Given the description of an element on the screen output the (x, y) to click on. 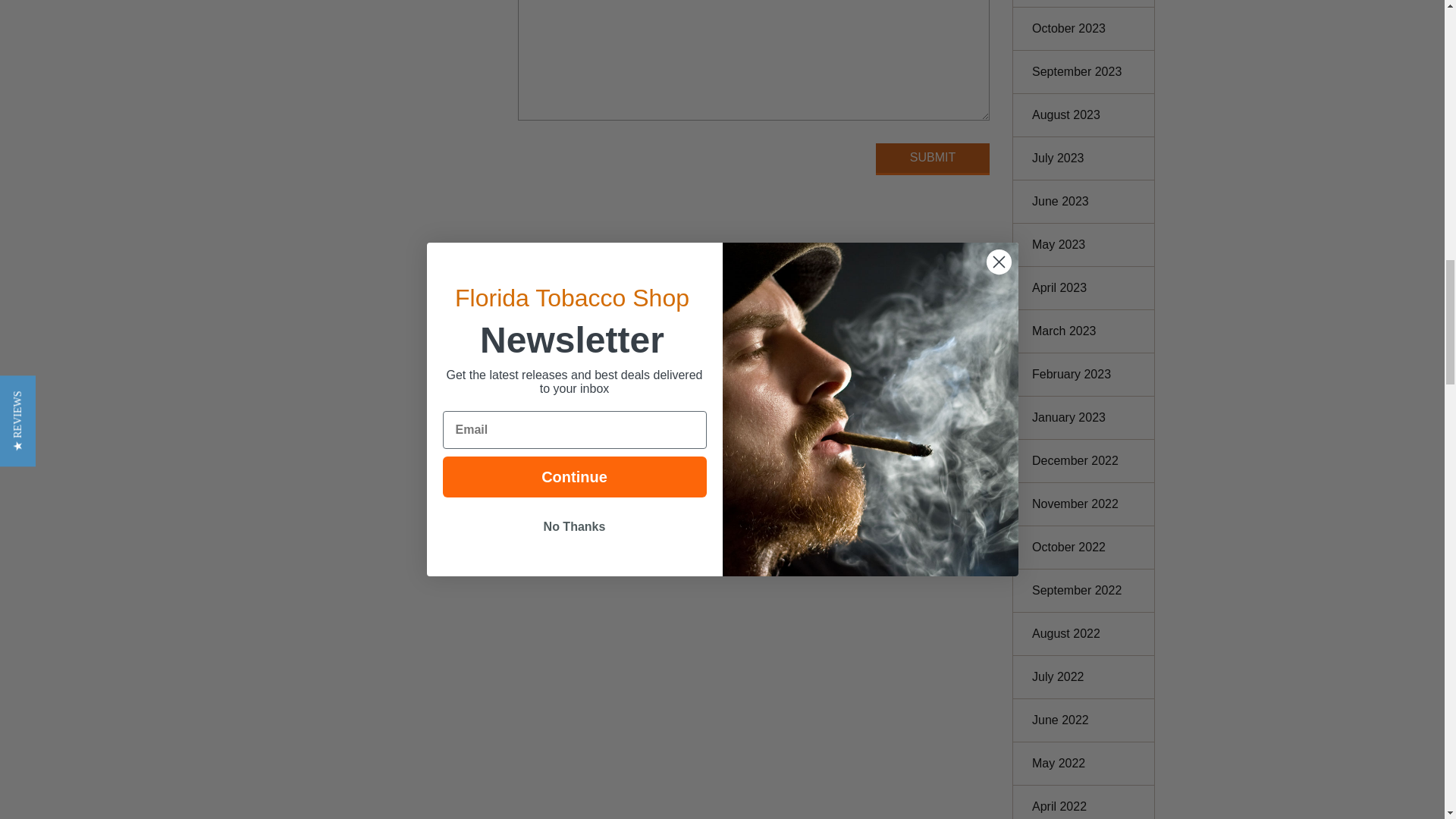
Submit (933, 159)
